Given the description of an element on the screen output the (x, y) to click on. 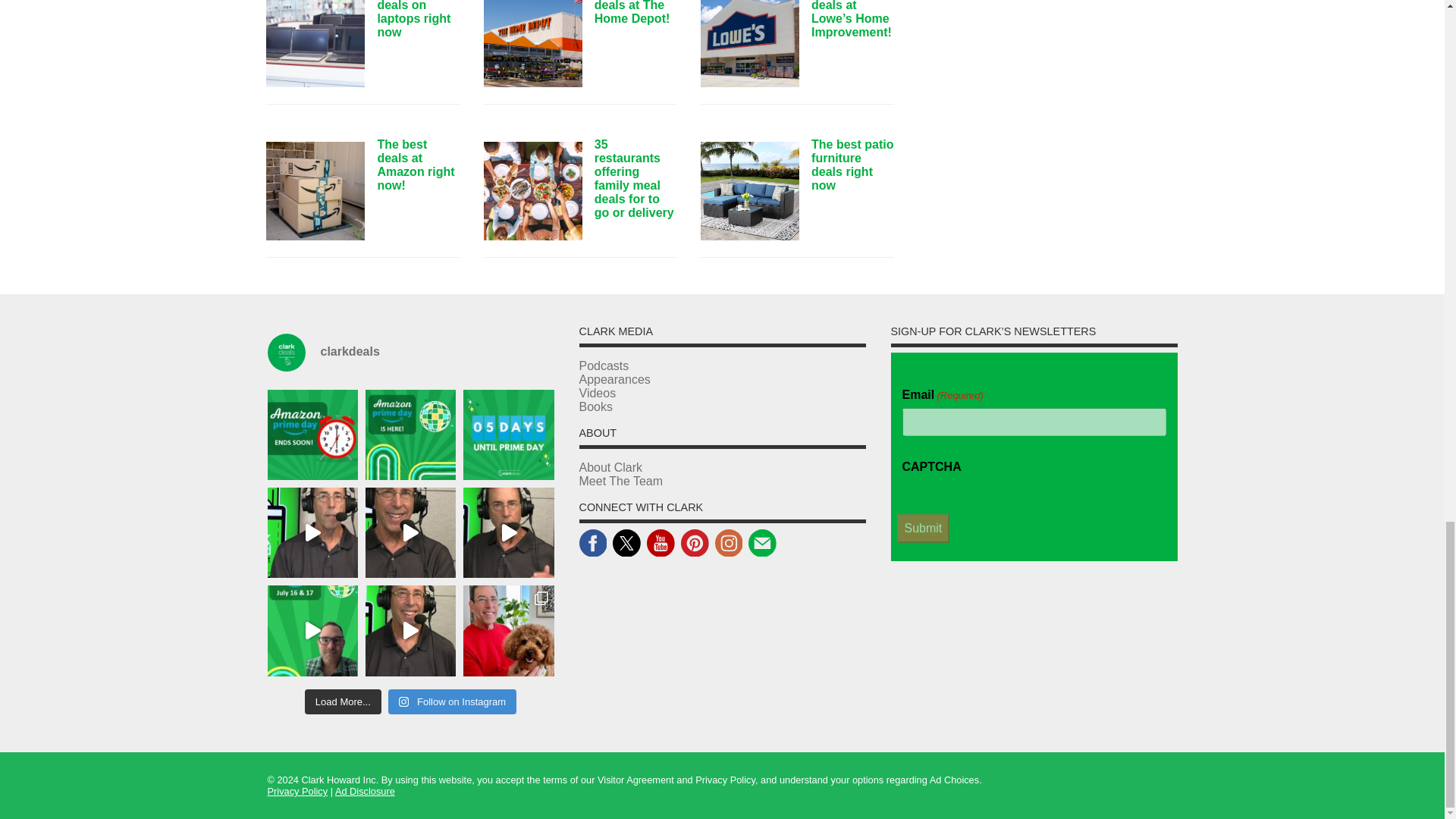
The best deals on laptops right now (315, 43)
Submit (922, 528)
The best deals at The Home Depot! (532, 43)
The best deals at Amazon right now! (315, 190)
